Given the description of an element on the screen output the (x, y) to click on. 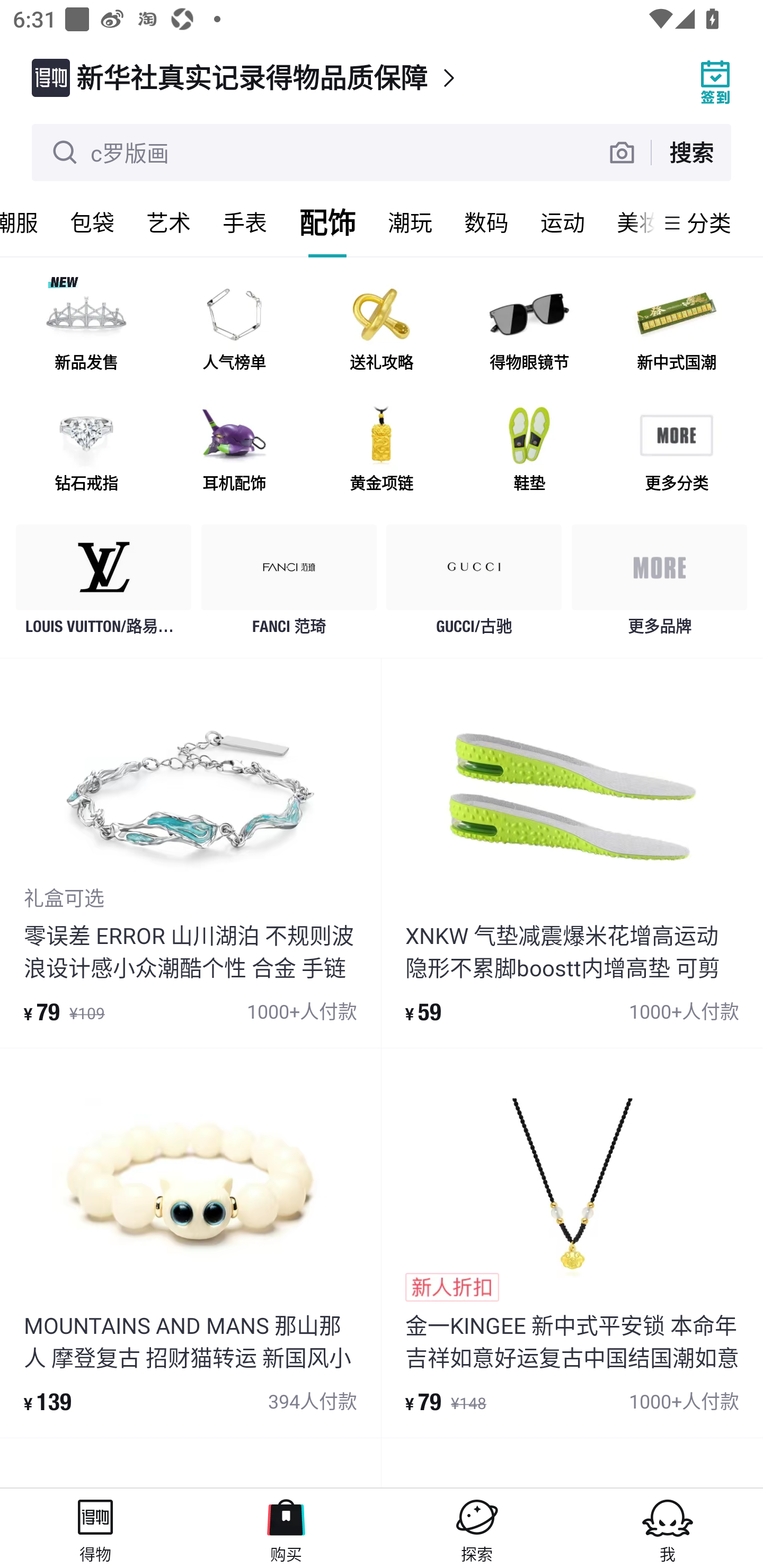
搜索 (690, 152)
潮服 (27, 222)
包袋 (92, 222)
艺术 (168, 222)
手表 (244, 222)
配饰 (327, 222)
潮玩 (410, 222)
数码 (486, 222)
运动 (562, 222)
美妆 (627, 222)
分类 (708, 222)
新品发售 (86, 329)
人气榜单 (233, 329)
送礼攻略 (381, 329)
得物眼镜节 (528, 329)
新中式国潮 (676, 329)
钻石戒指 (86, 450)
耳机配饰 (233, 450)
黄金项链 (381, 450)
鞋垫 (528, 450)
更多分类 (676, 450)
LOUIS VUITTON/路易威登 (103, 583)
FANCI 范琦 (288, 583)
GUCCI/古驰 (473, 583)
更多品牌 (658, 583)
得物 (95, 1528)
购买 (285, 1528)
探索 (476, 1528)
我 (667, 1528)
